Given the description of an element on the screen output the (x, y) to click on. 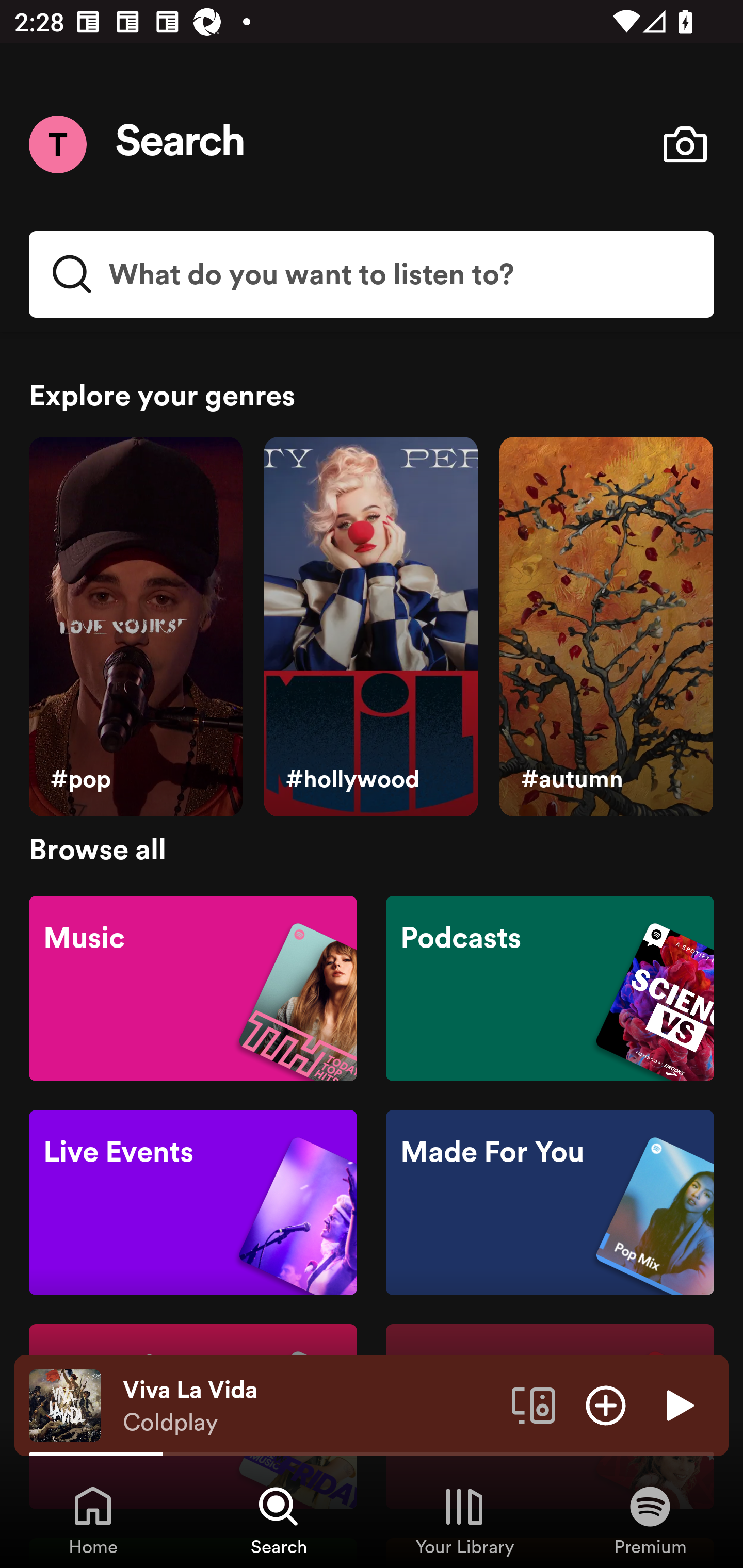
Menu (57, 144)
Open camera (685, 145)
Search (180, 144)
#pop (135, 626)
#hollywood (370, 626)
#autumn (606, 626)
Music (192, 987)
Podcasts (549, 987)
Live Events (192, 1202)
Made For You (549, 1202)
Viva La Vida Coldplay (309, 1405)
The cover art of the currently playing track (64, 1404)
Connect to a device. Opens the devices menu (533, 1404)
Add item (605, 1404)
Play (677, 1404)
Home, Tab 1 of 4 Home Home (92, 1519)
Search, Tab 2 of 4 Search Search (278, 1519)
Your Library, Tab 3 of 4 Your Library Your Library (464, 1519)
Premium, Tab 4 of 4 Premium Premium (650, 1519)
